Given the description of an element on the screen output the (x, y) to click on. 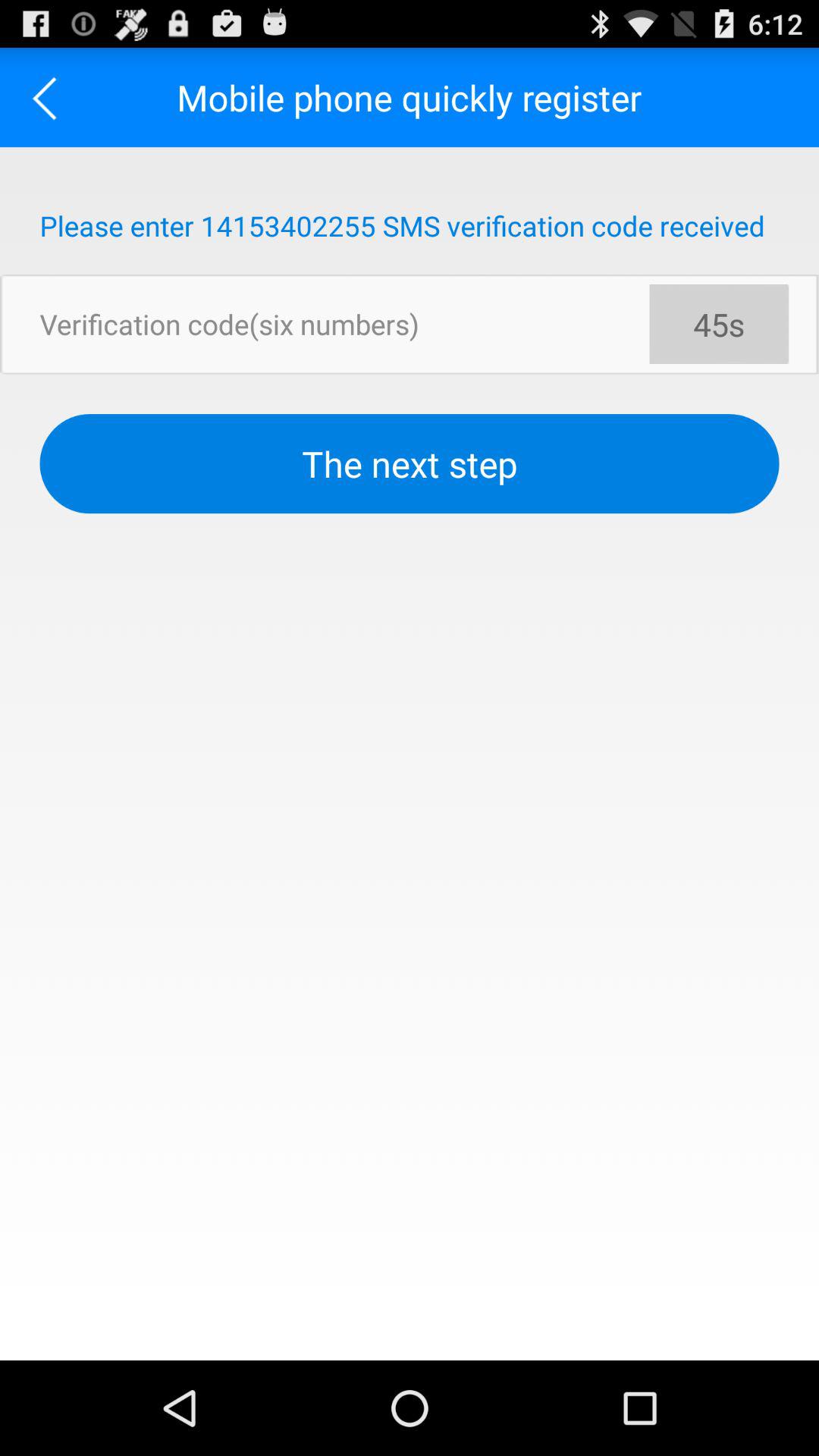
launch the next step item (409, 463)
